Given the description of an element on the screen output the (x, y) to click on. 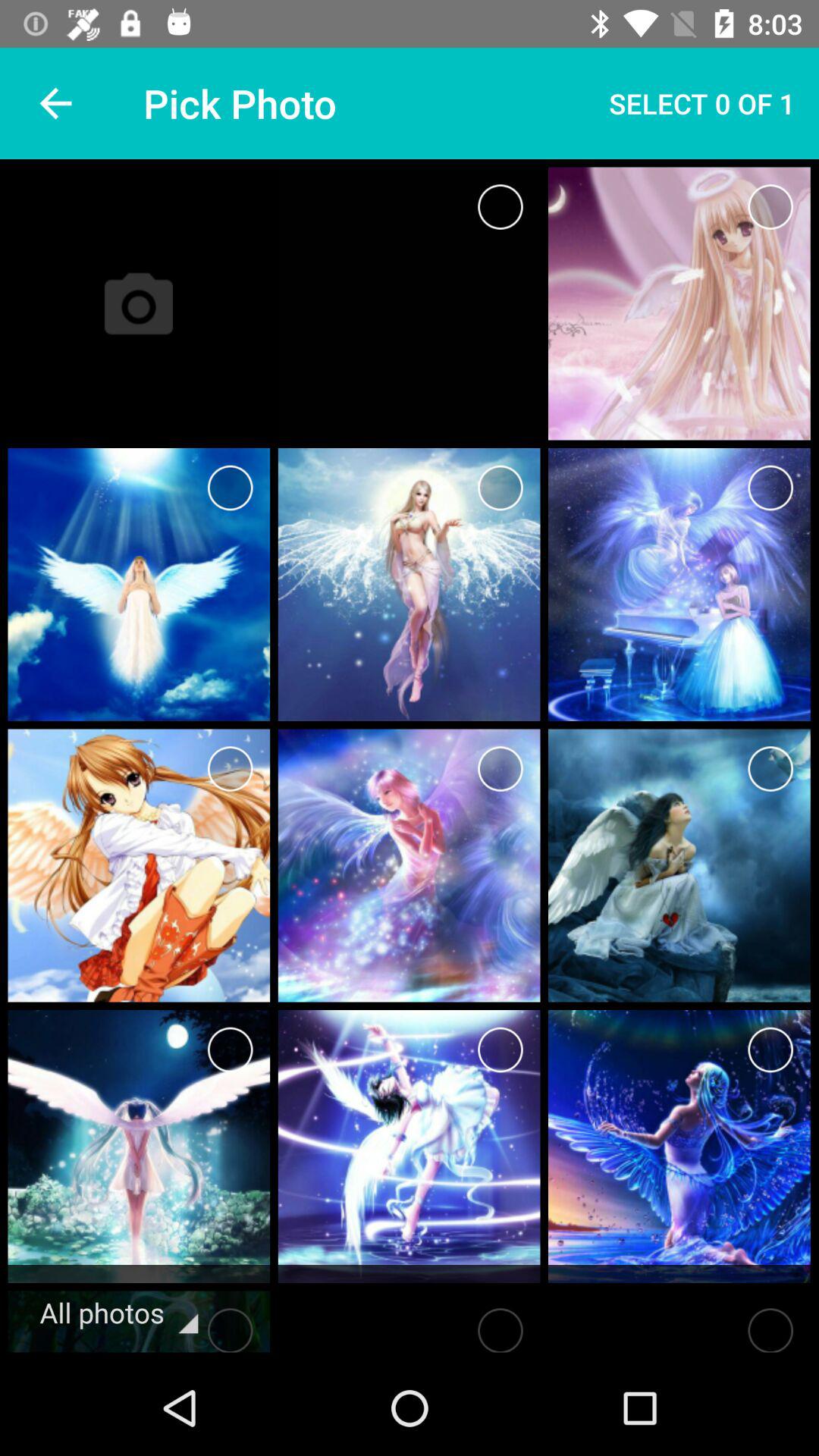
view all photos (230, 1325)
